Given the description of an element on the screen output the (x, y) to click on. 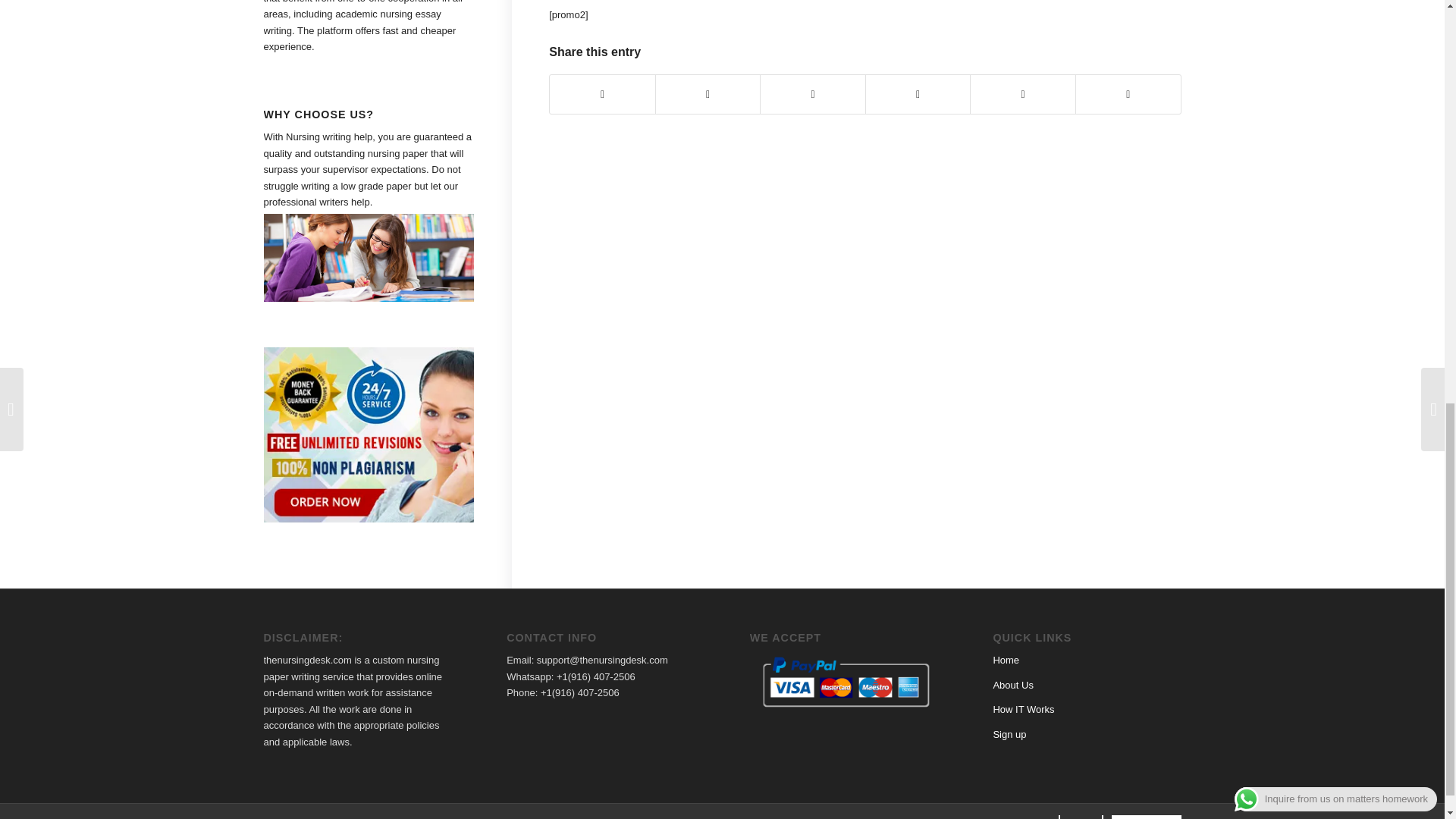
ORDER NOW (1146, 814)
Home (1005, 659)
About Us (1012, 685)
How IT Works (1023, 708)
Sign up (1009, 734)
LOG IN (1080, 814)
